Given the description of an element on the screen output the (x, y) to click on. 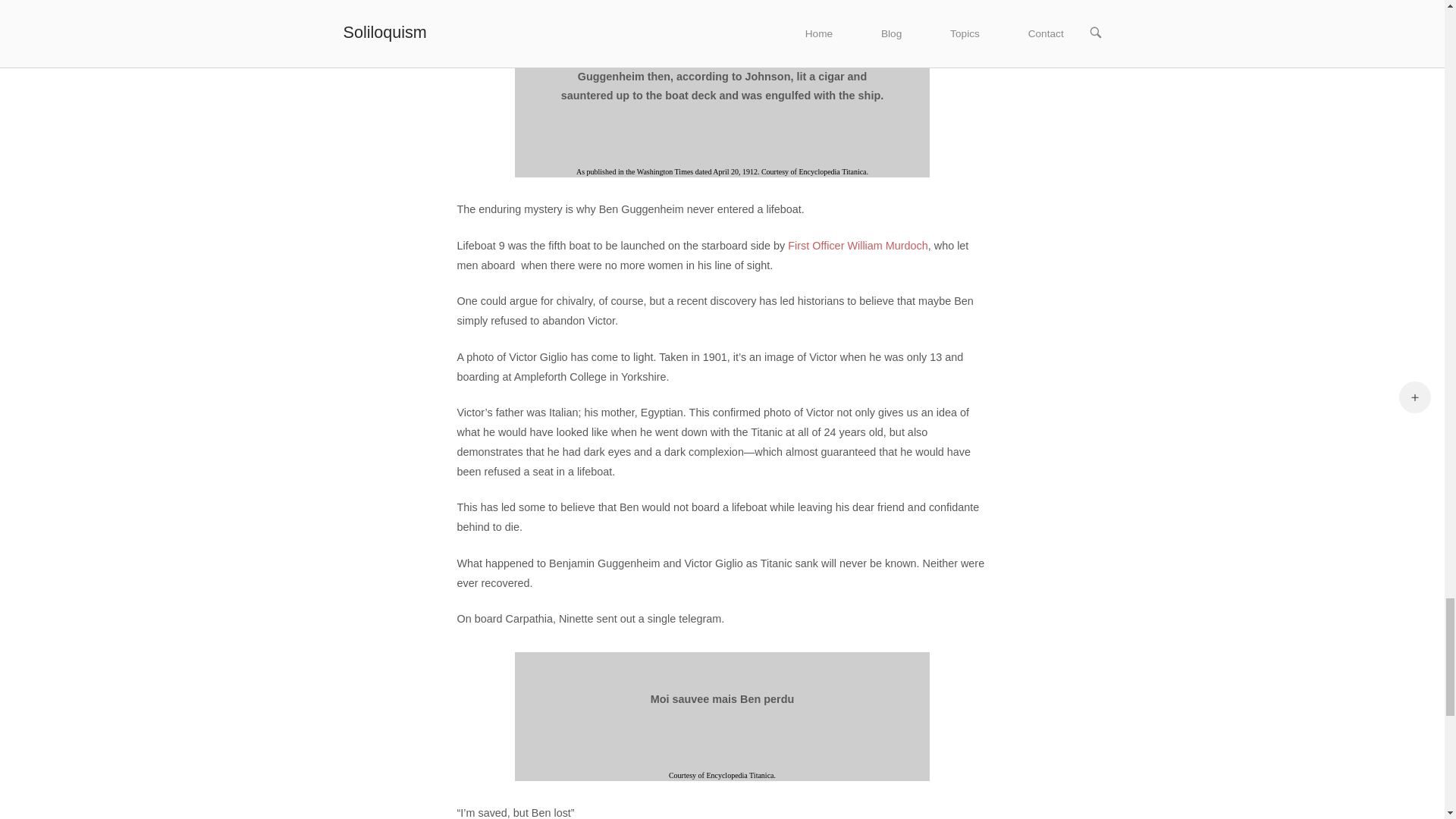
Courtesy of Encyclopedia Titanica. (722, 775)
First Officer William Murdoch (857, 245)
